Given the description of an element on the screen output the (x, y) to click on. 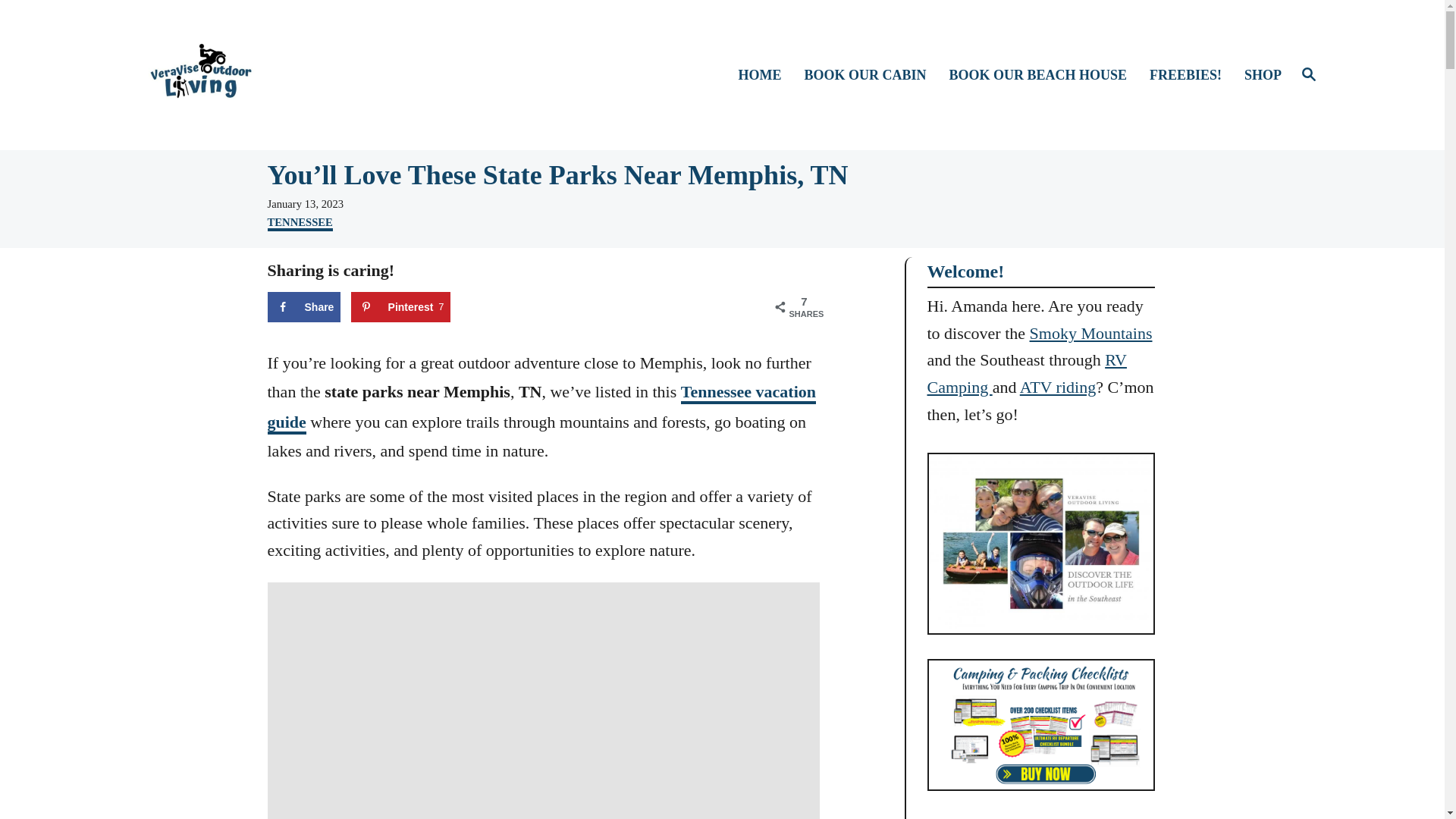
SHOP (1260, 75)
VeraVise Outdoor Living (285, 74)
Tennessee vacation guide (1308, 75)
TENNESSEE (540, 408)
BOOK OUR BEACH HOUSE (298, 223)
BOOK OUR CABIN (1044, 75)
FREEBIES! (871, 75)
Share on Facebook (1192, 75)
Magnifying Glass (303, 306)
